Given the description of an element on the screen output the (x, y) to click on. 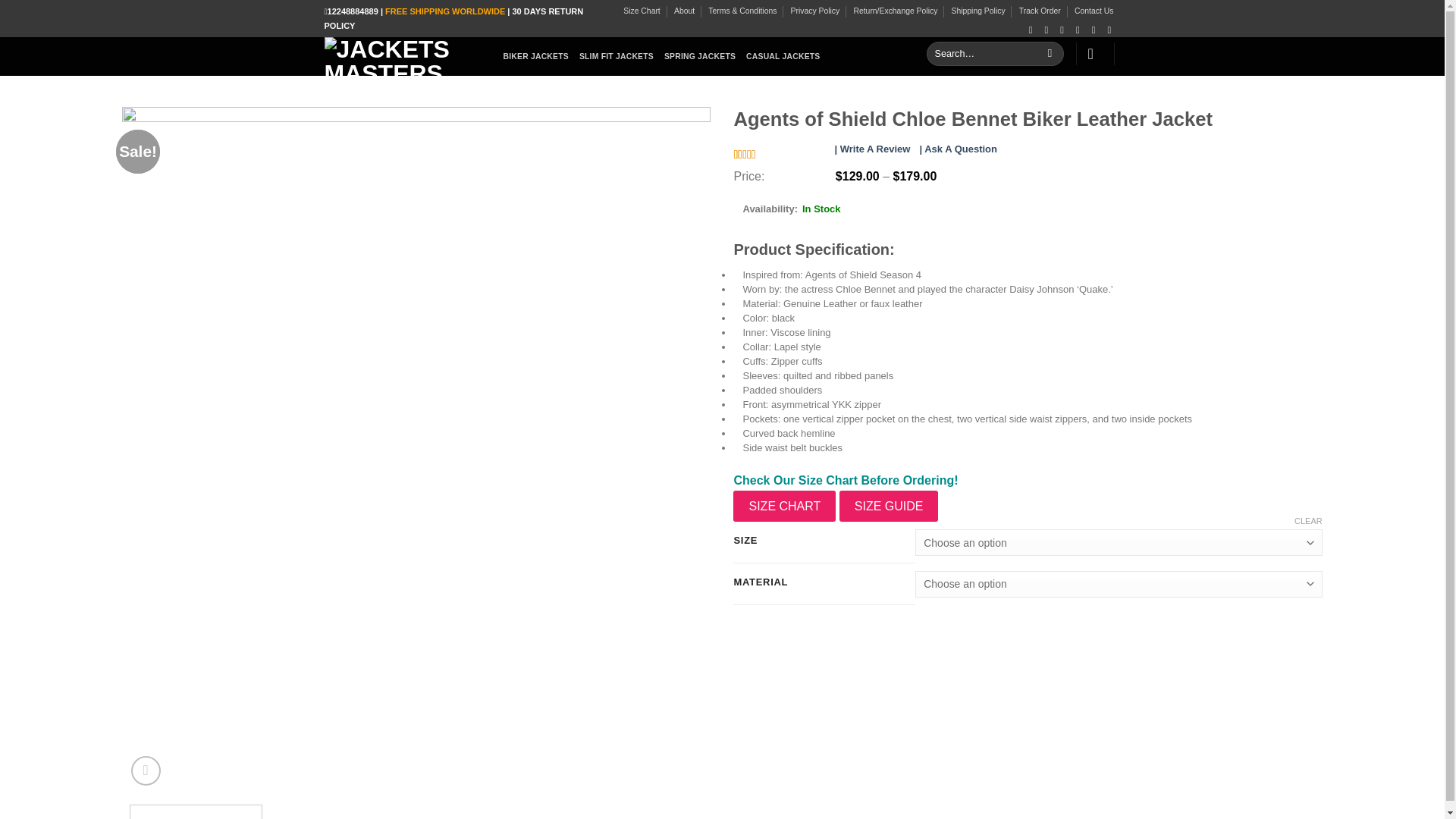
Privacy Policy (815, 11)
SLIM FIT JACKETS (616, 56)
Track Order (1040, 11)
Search (1050, 53)
Size Chart (642, 11)
Contact Us (1093, 11)
12248884889 (352, 10)
CASUAL JACKETS (782, 56)
BIKER JACKETS (536, 56)
Jackets Masters (402, 56)
